Given the description of an element on the screen output the (x, y) to click on. 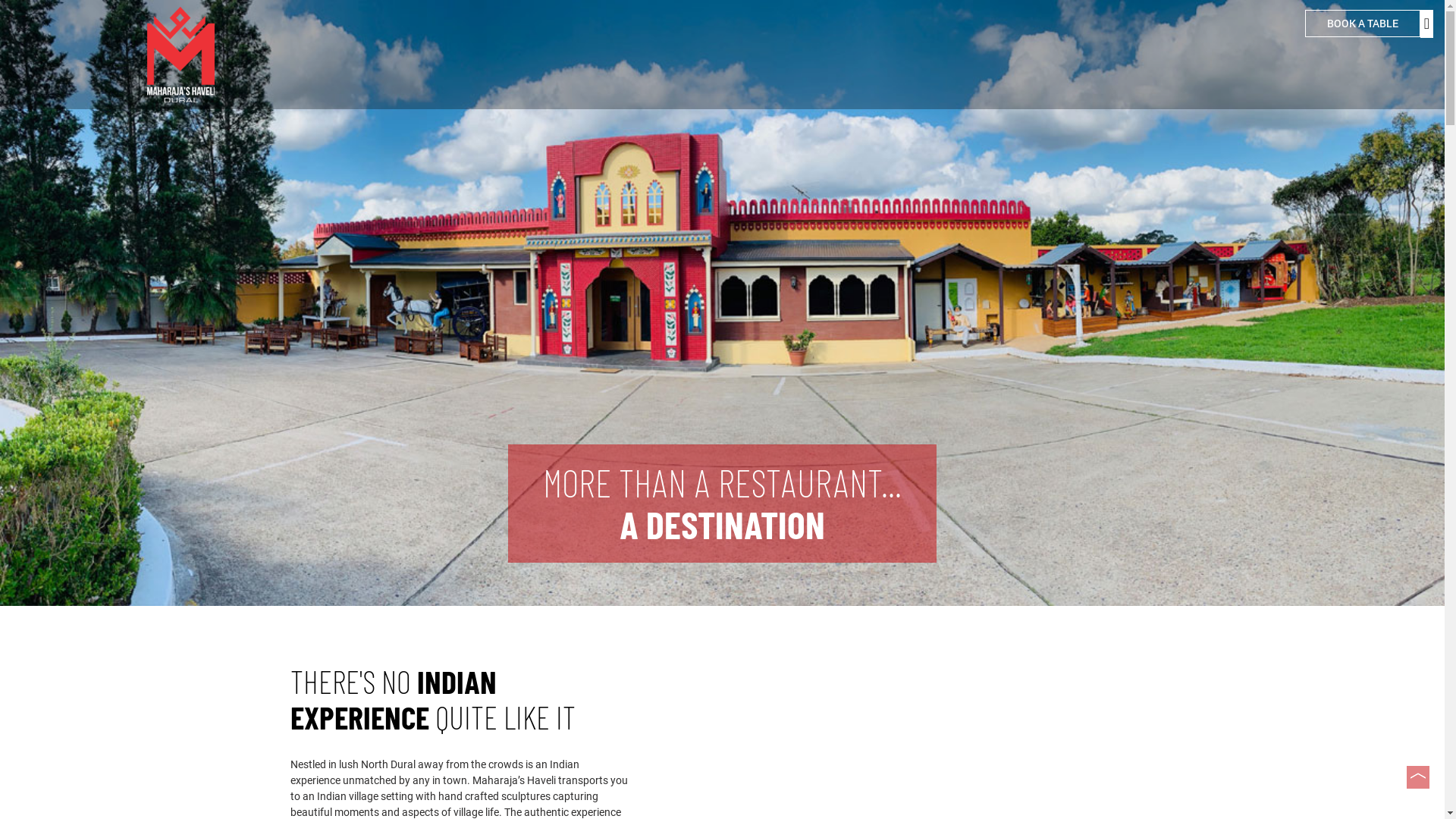
BOOK A TABLE Element type: text (1362, 23)
